Given the description of an element on the screen output the (x, y) to click on. 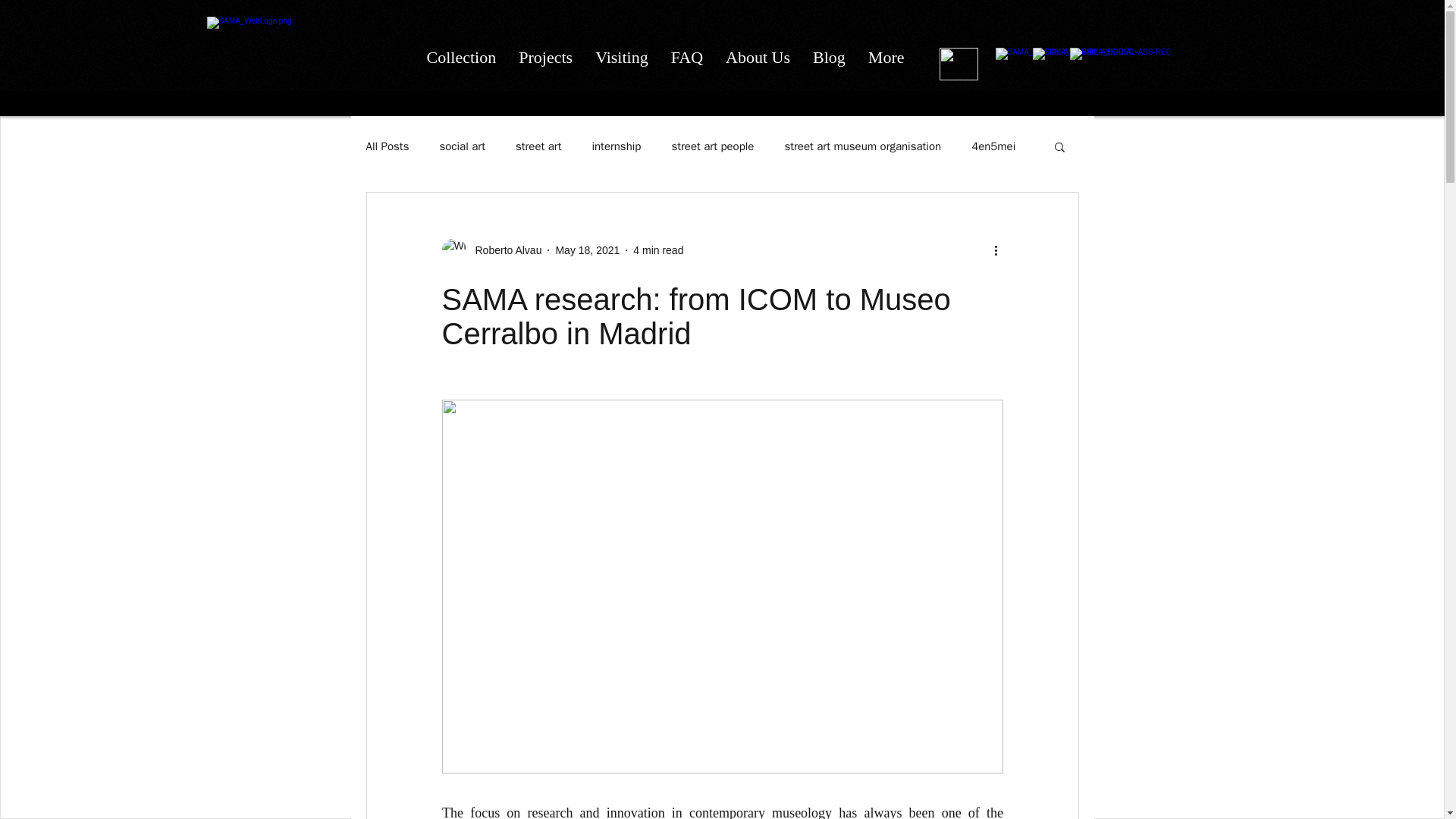
street art people (712, 146)
4 min read (657, 250)
All Posts (387, 146)
FAQ (686, 63)
Projects (544, 63)
4en5mei (992, 146)
May 18, 2021 (587, 250)
Blog (829, 63)
street art (538, 146)
internship (615, 146)
Roberto Alvau (503, 250)
Collection (461, 63)
street art museum organisation (862, 146)
Visiting (621, 63)
social art (461, 146)
